Given the description of an element on the screen output the (x, y) to click on. 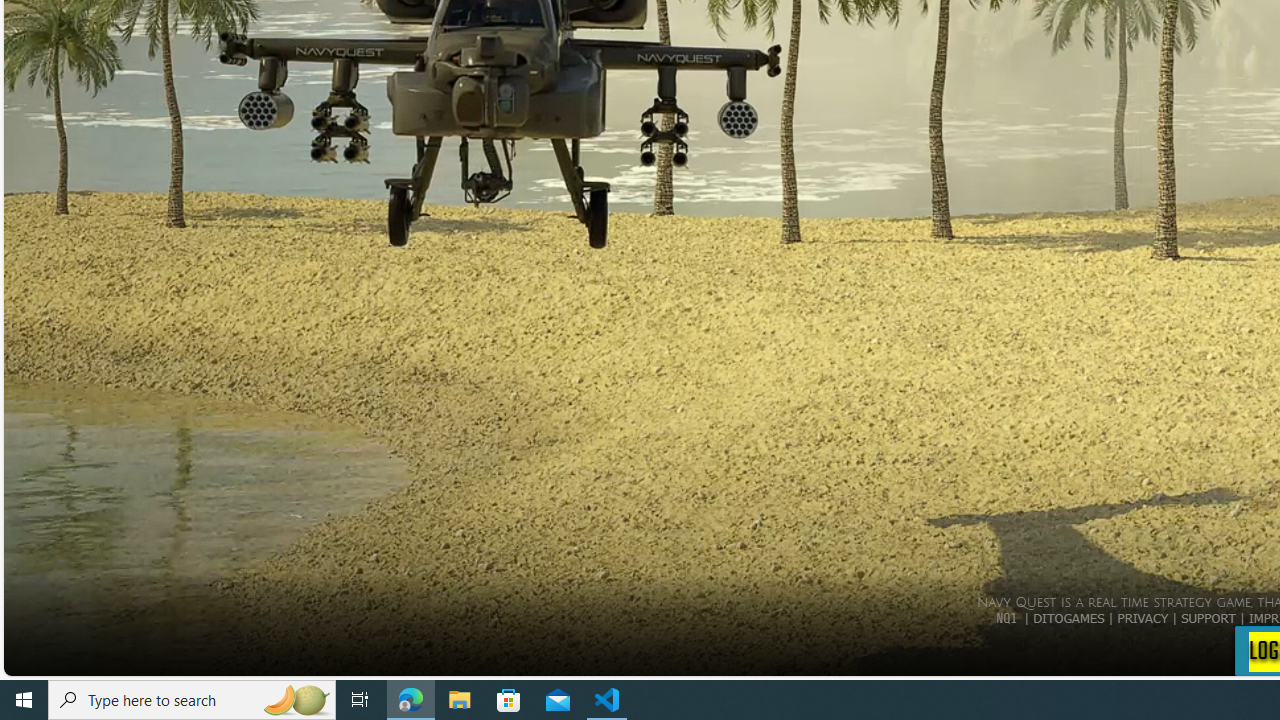
SUPPORT (1208, 617)
PRIVACY (1142, 617)
